Given the description of an element on the screen output the (x, y) to click on. 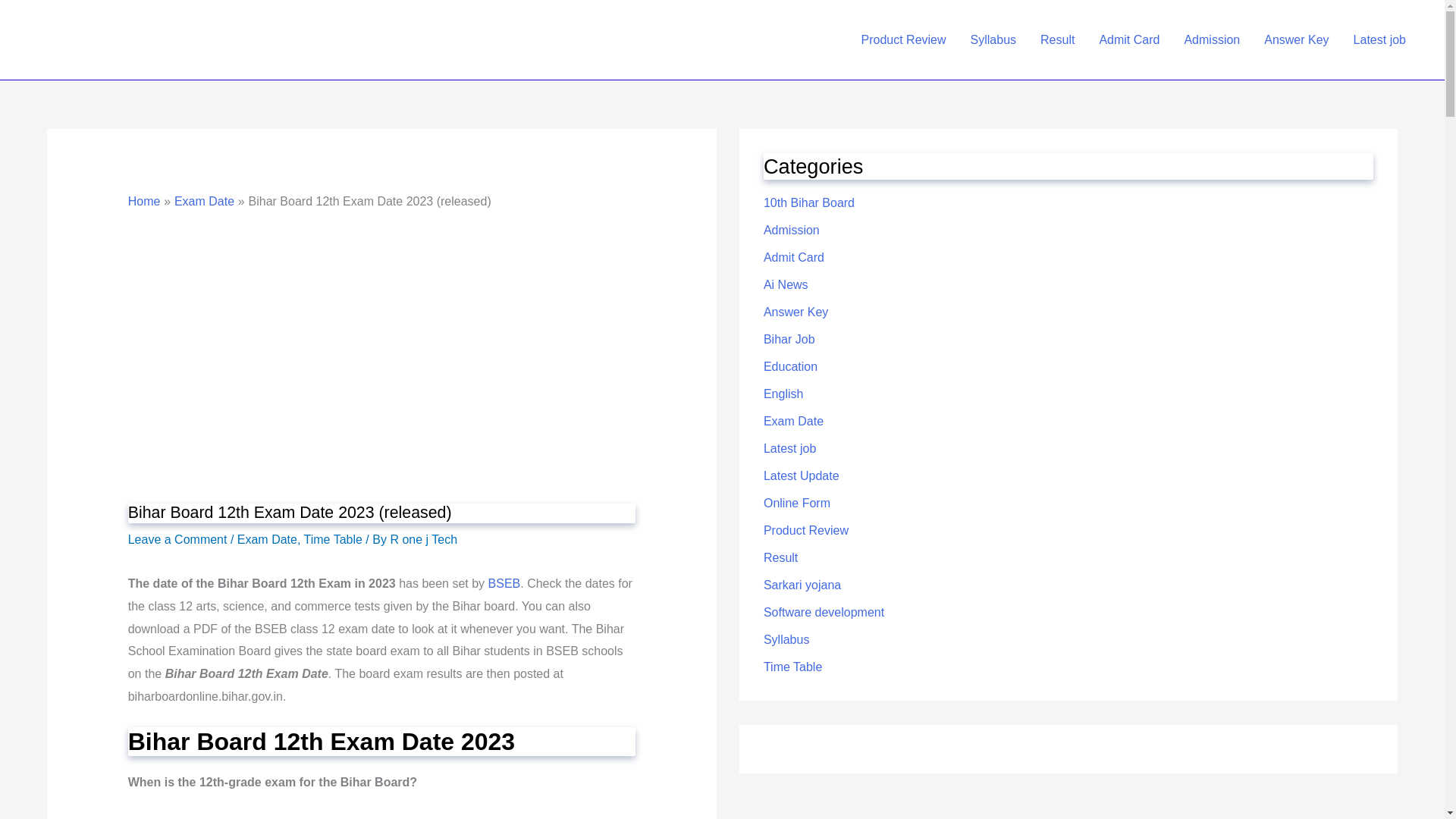
Home (144, 201)
Product Review (903, 39)
Syllabus (992, 39)
Exam Date (204, 201)
Time Table (333, 539)
R one j Tech (423, 539)
Answer Key (1296, 39)
Latest job (1379, 39)
Leave a Comment (177, 539)
Admit Card (1129, 39)
Result (1056, 39)
Exam Date (267, 539)
View all posts by R one j Tech (423, 539)
Admission (1212, 39)
BSEB (501, 583)
